Given the description of an element on the screen output the (x, y) to click on. 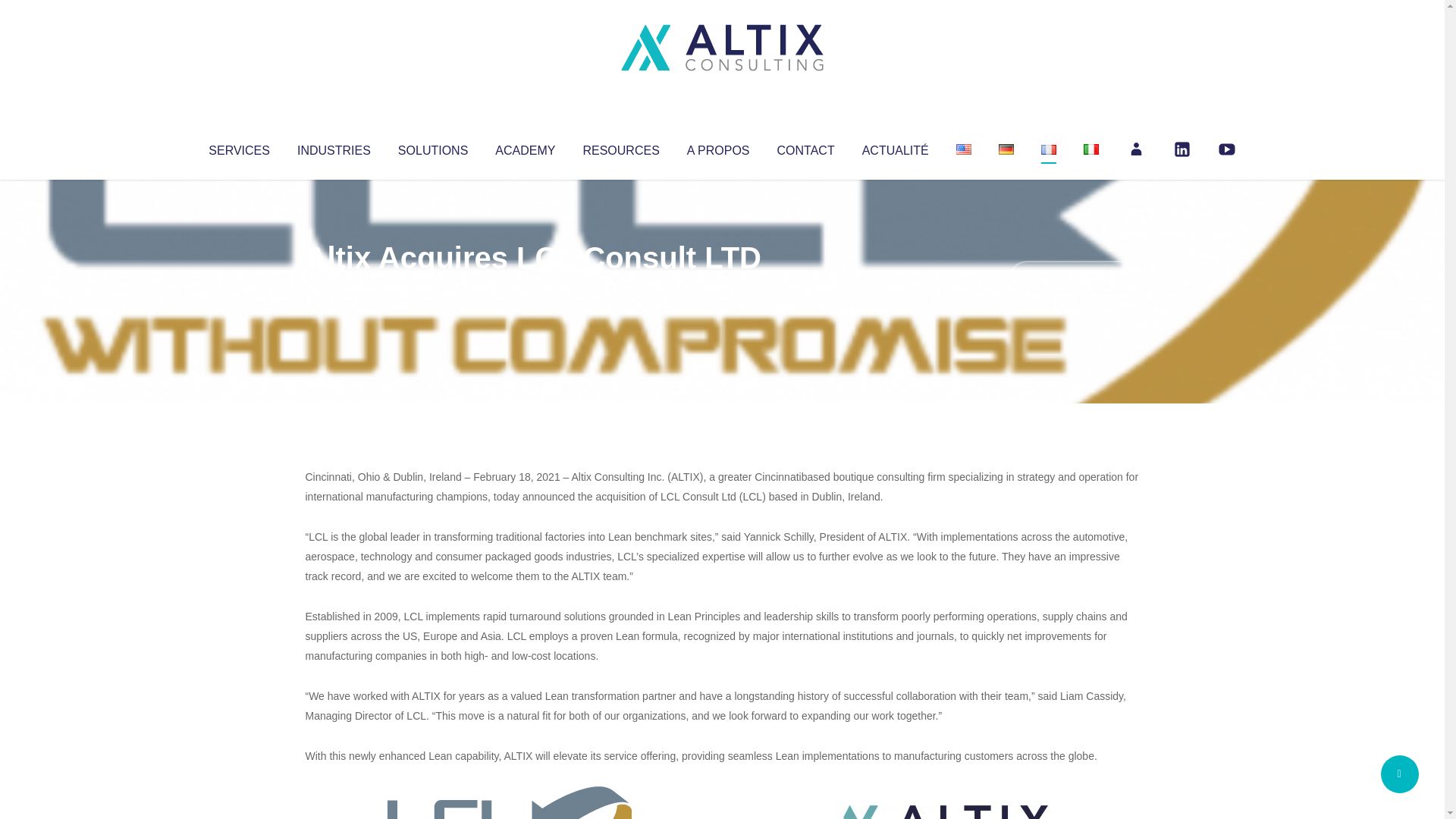
A PROPOS (718, 146)
SERVICES (238, 146)
RESOURCES (620, 146)
Uncategorized (530, 287)
ACADEMY (524, 146)
Articles par Altix (333, 287)
No Comments (1073, 278)
SOLUTIONS (432, 146)
Altix (333, 287)
INDUSTRIES (334, 146)
